Given the description of an element on the screen output the (x, y) to click on. 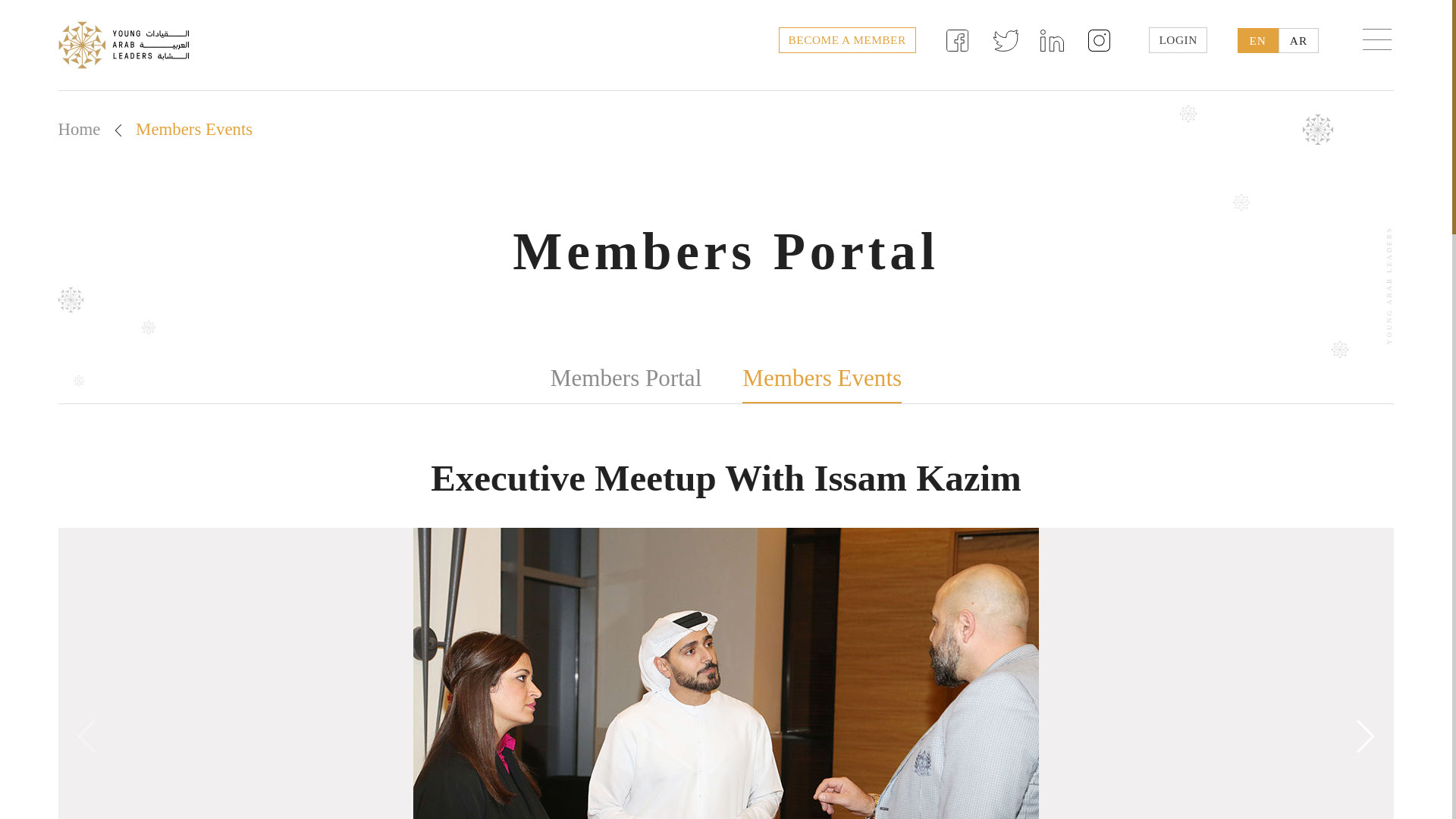
BECOME A MEMBER (846, 39)
AR (1298, 40)
Home (79, 128)
Members Events (193, 128)
Members Portal (625, 377)
Members Events (821, 378)
LOGIN (1177, 39)
EN (1257, 40)
